Given the description of an element on the screen output the (x, y) to click on. 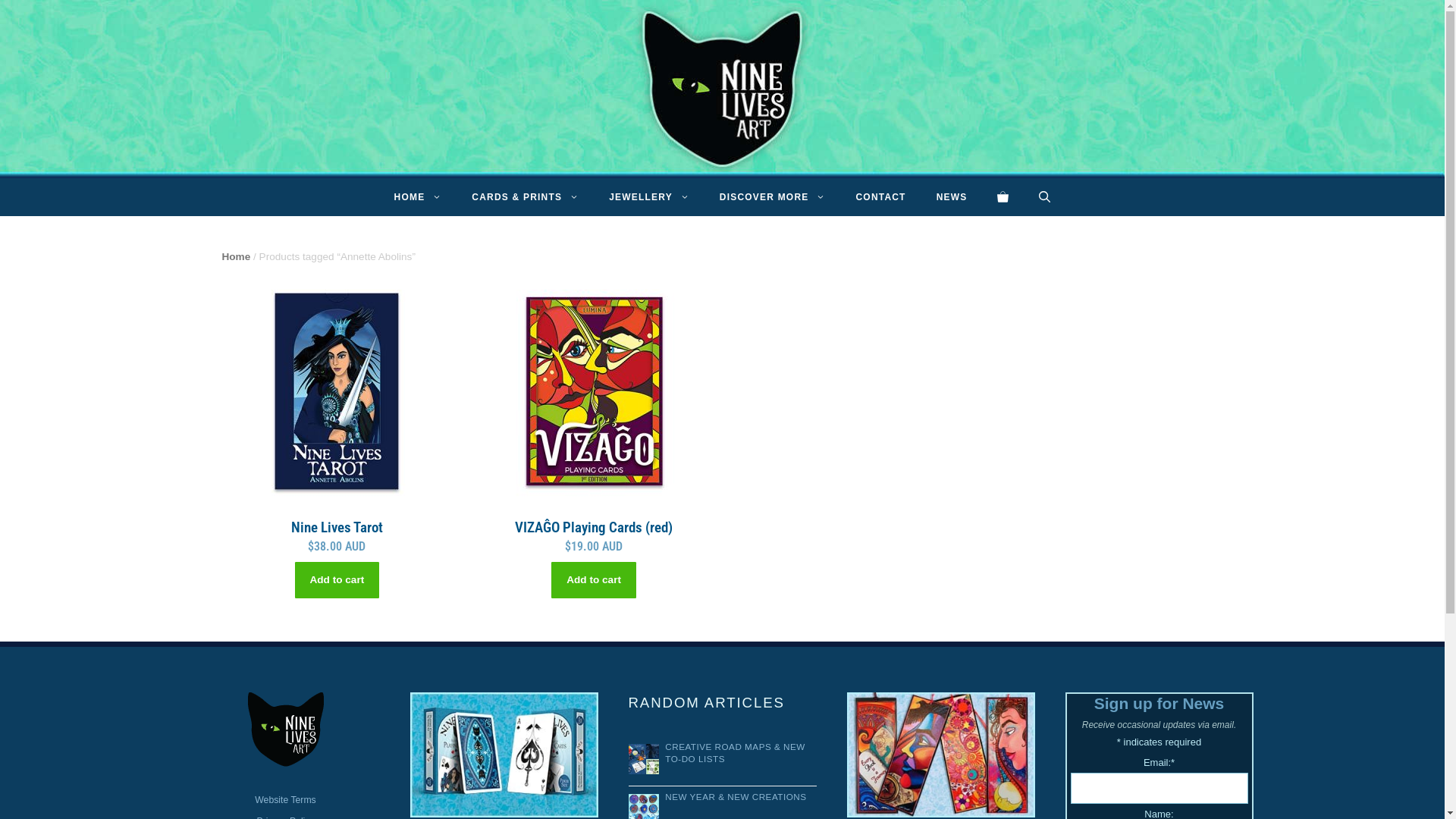
DISCOVER MORE Element type: text (772, 197)
NEW YEAR & NEW CREATIONS Element type: text (735, 796)
Add to cart Element type: text (593, 579)
Nine Lives Tarot
$38.00 AUD Element type: text (336, 417)
Home Element type: text (235, 256)
JEWELLERY Element type: text (648, 197)
CREATIVE ROAD MAPS & NEW TO-DO LISTS Element type: text (735, 752)
NEWS Element type: text (951, 197)
CONTACT Element type: text (880, 197)
Add to cart Element type: text (336, 579)
HOME Element type: text (418, 197)
CARDS & PRINTS Element type: text (524, 197)
View your shopping cart Element type: hover (1002, 197)
Website Terms Element type: text (284, 799)
